Given the description of an element on the screen output the (x, y) to click on. 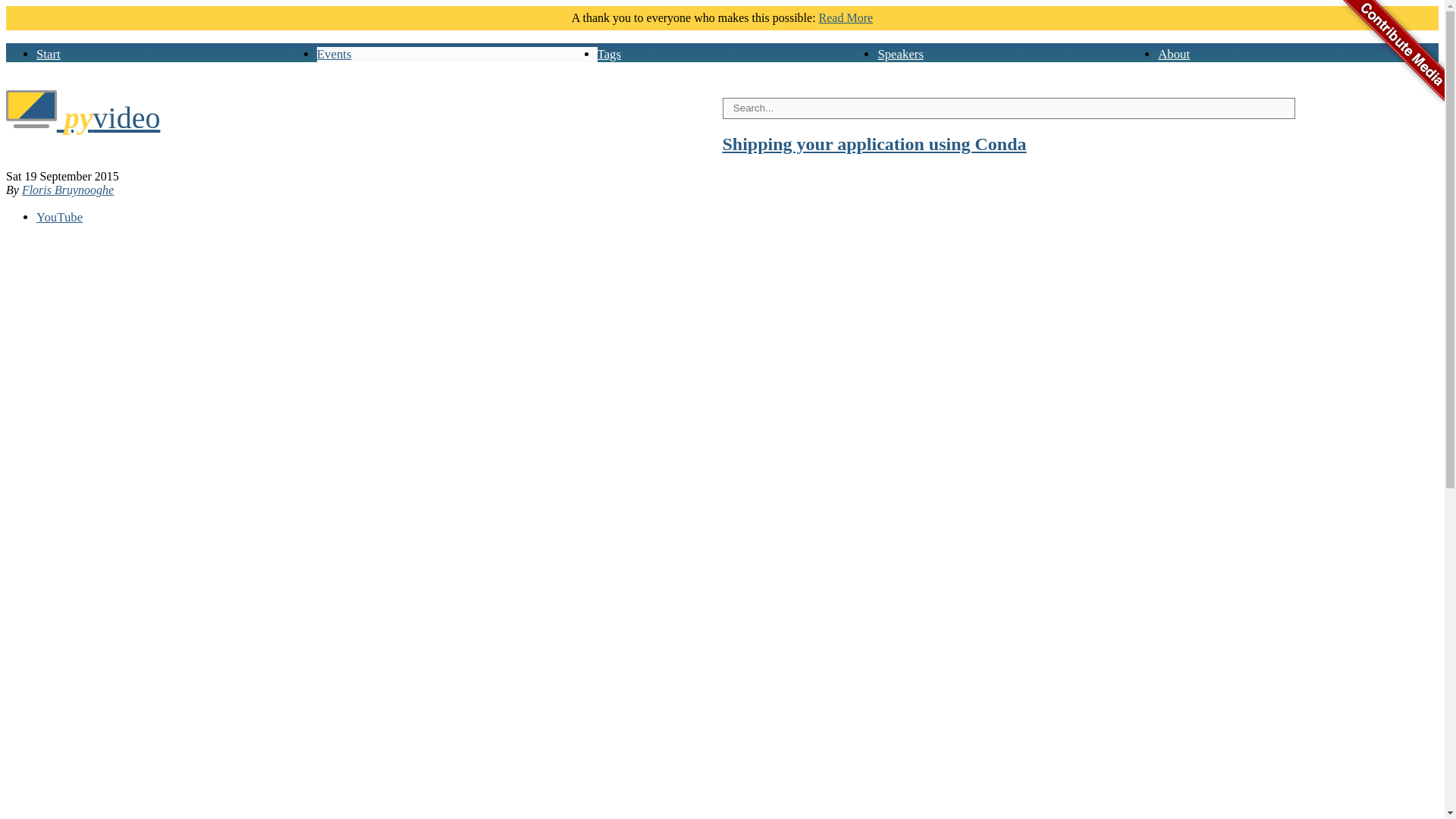
Permalink to Shipping your application using Conda (874, 143)
Events (334, 53)
About (1173, 53)
pyvideo (82, 117)
YouTube (59, 216)
Read More (845, 17)
Floris Bruynooghe (67, 189)
Shipping your application using Conda (874, 143)
Start (48, 53)
Tags (608, 53)
